Given the description of an element on the screen output the (x, y) to click on. 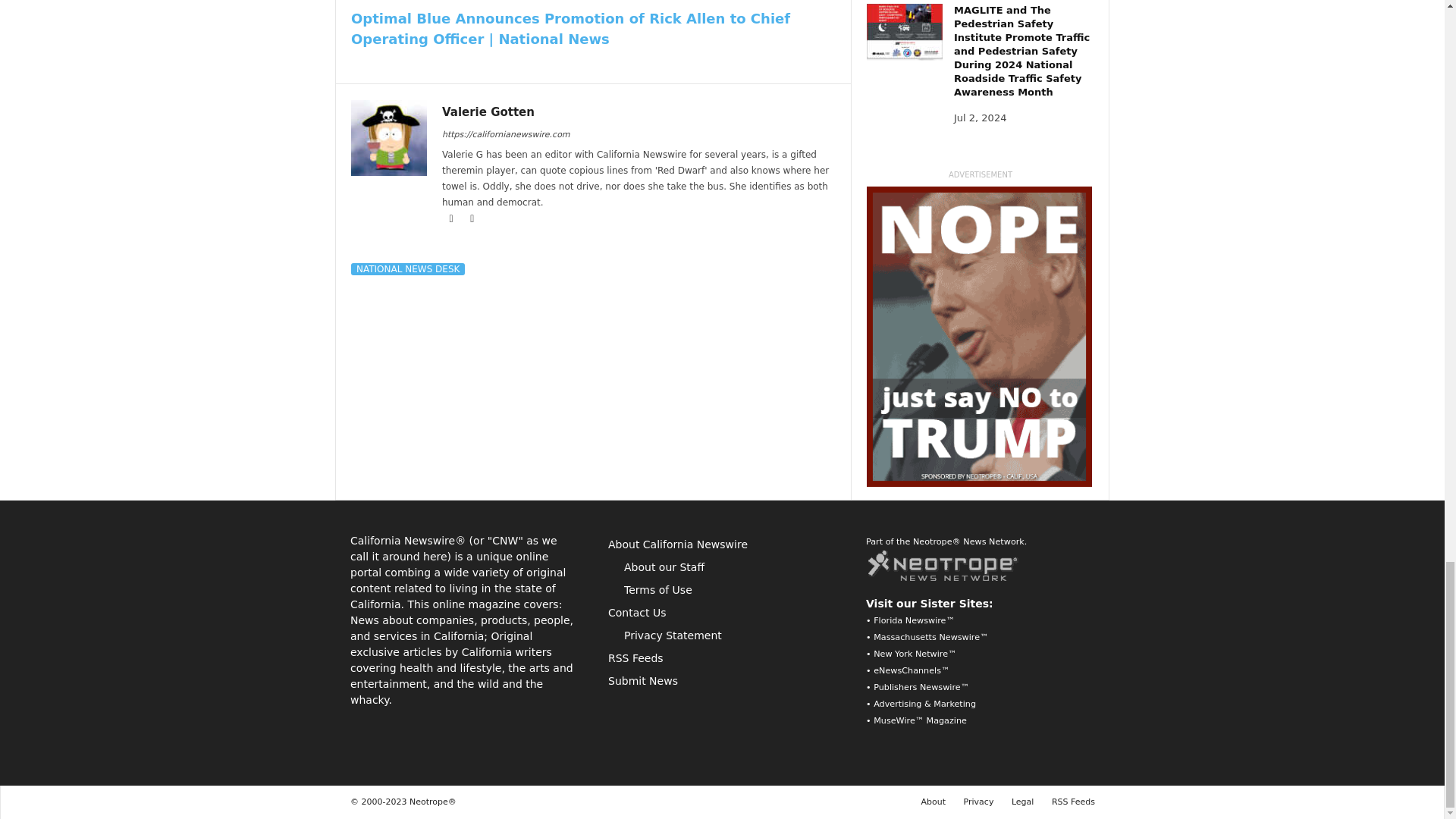
Facebook (452, 218)
Twitter (472, 218)
